Given the description of an element on the screen output the (x, y) to click on. 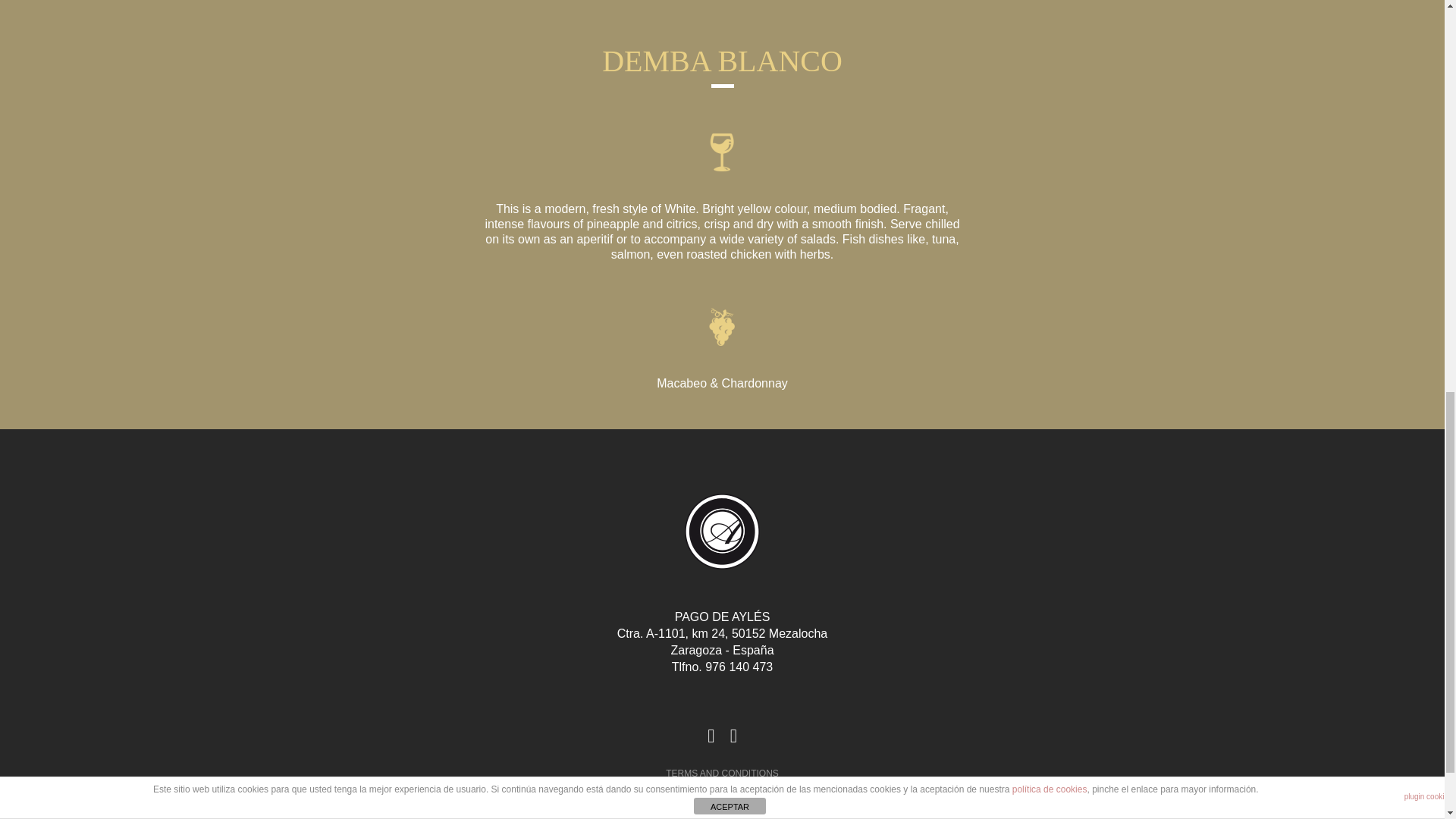
TERMS AND CONDITIONS (721, 773)
